Given the description of an element on the screen output the (x, y) to click on. 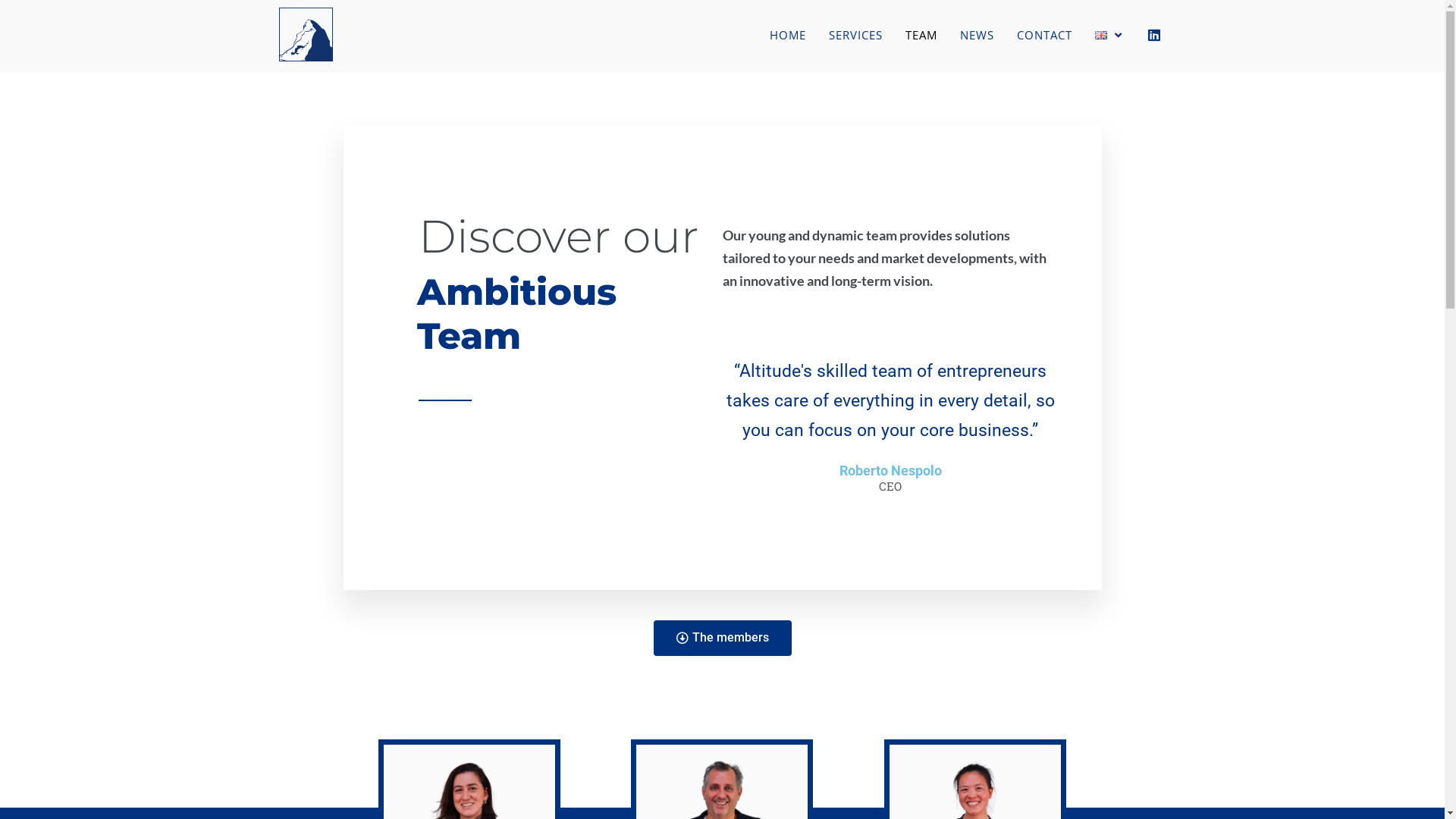
The members Element type: text (722, 637)
HOME Element type: text (787, 34)
SERVICES Element type: text (855, 34)
NEWS Element type: text (975, 34)
CONTACT Element type: text (1044, 34)
TEAM Element type: text (920, 34)
